Given the description of an element on the screen output the (x, y) to click on. 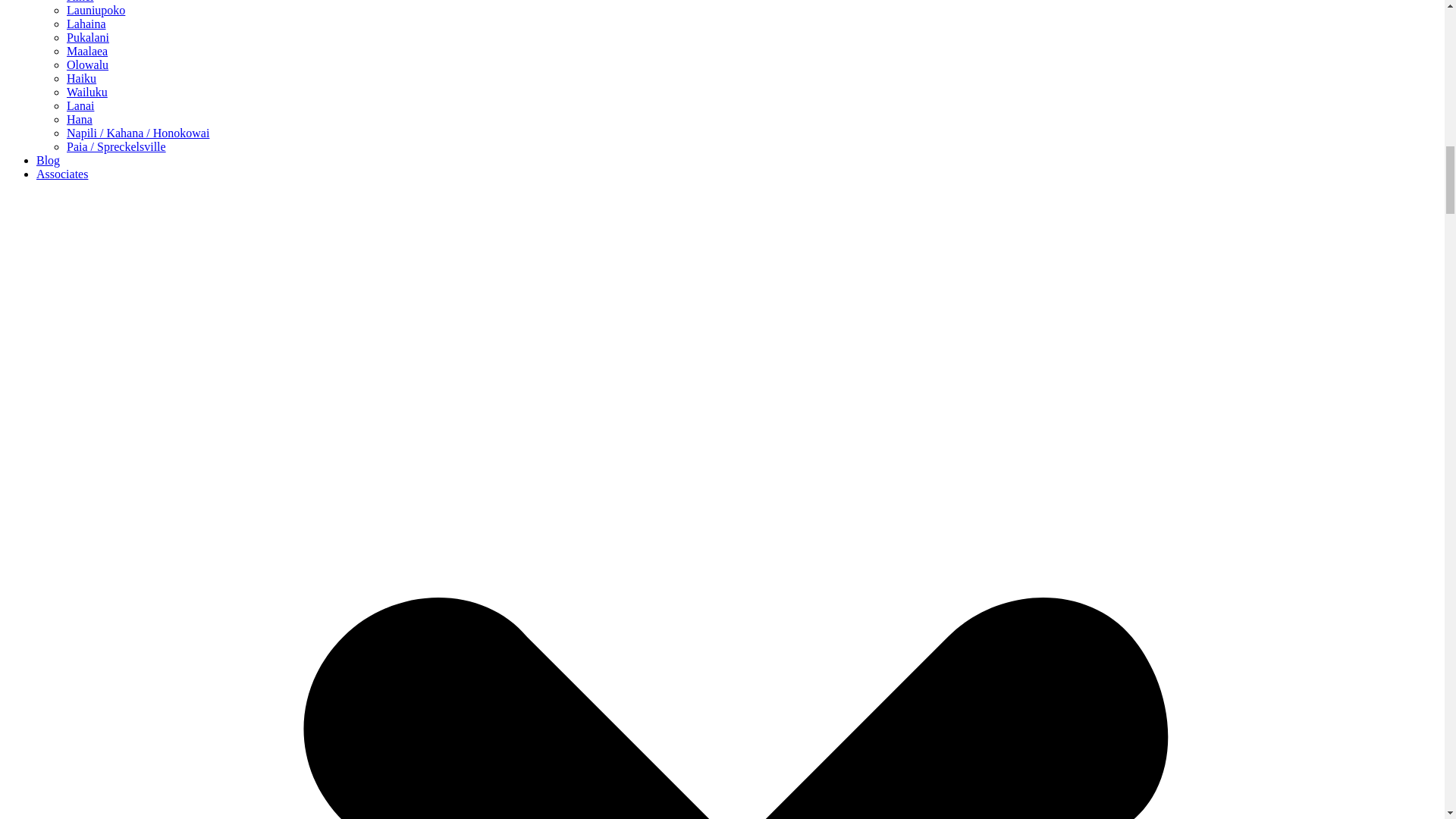
Maalaea (86, 51)
Wailuku (86, 91)
Lahaina (86, 23)
Kihei (80, 1)
Launiupoko (95, 10)
Haiku (81, 78)
Hana (79, 119)
Pukalani (87, 37)
Blog (47, 160)
Olowalu (86, 64)
